Given the description of an element on the screen output the (x, y) to click on. 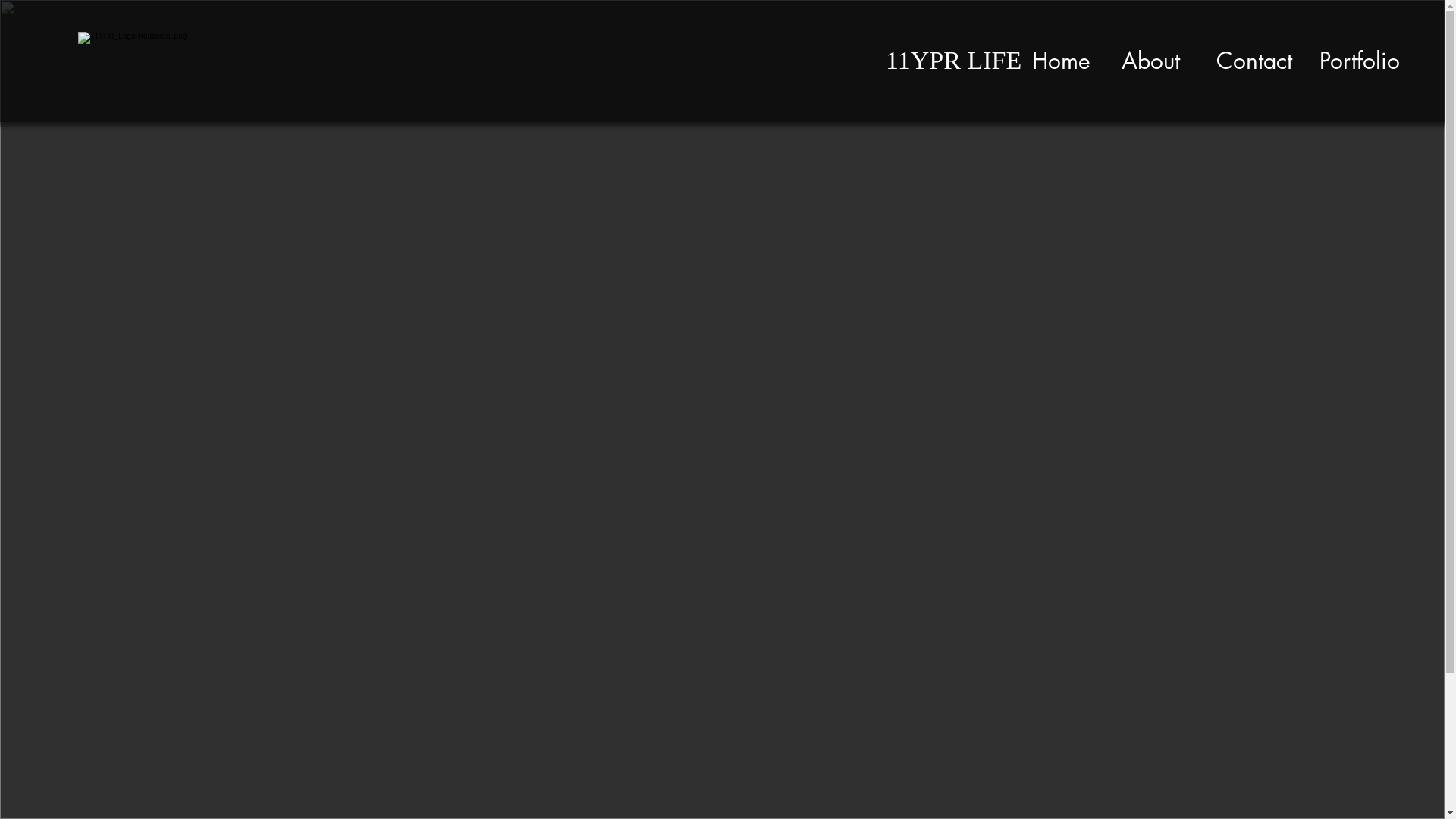
About Element type: text (1150, 60)
11YPR LIFE Element type: text (953, 60)
Portfolio Element type: text (1359, 60)
Contact Element type: text (1253, 60)
Home Element type: text (1060, 60)
